Given the description of an element on the screen output the (x, y) to click on. 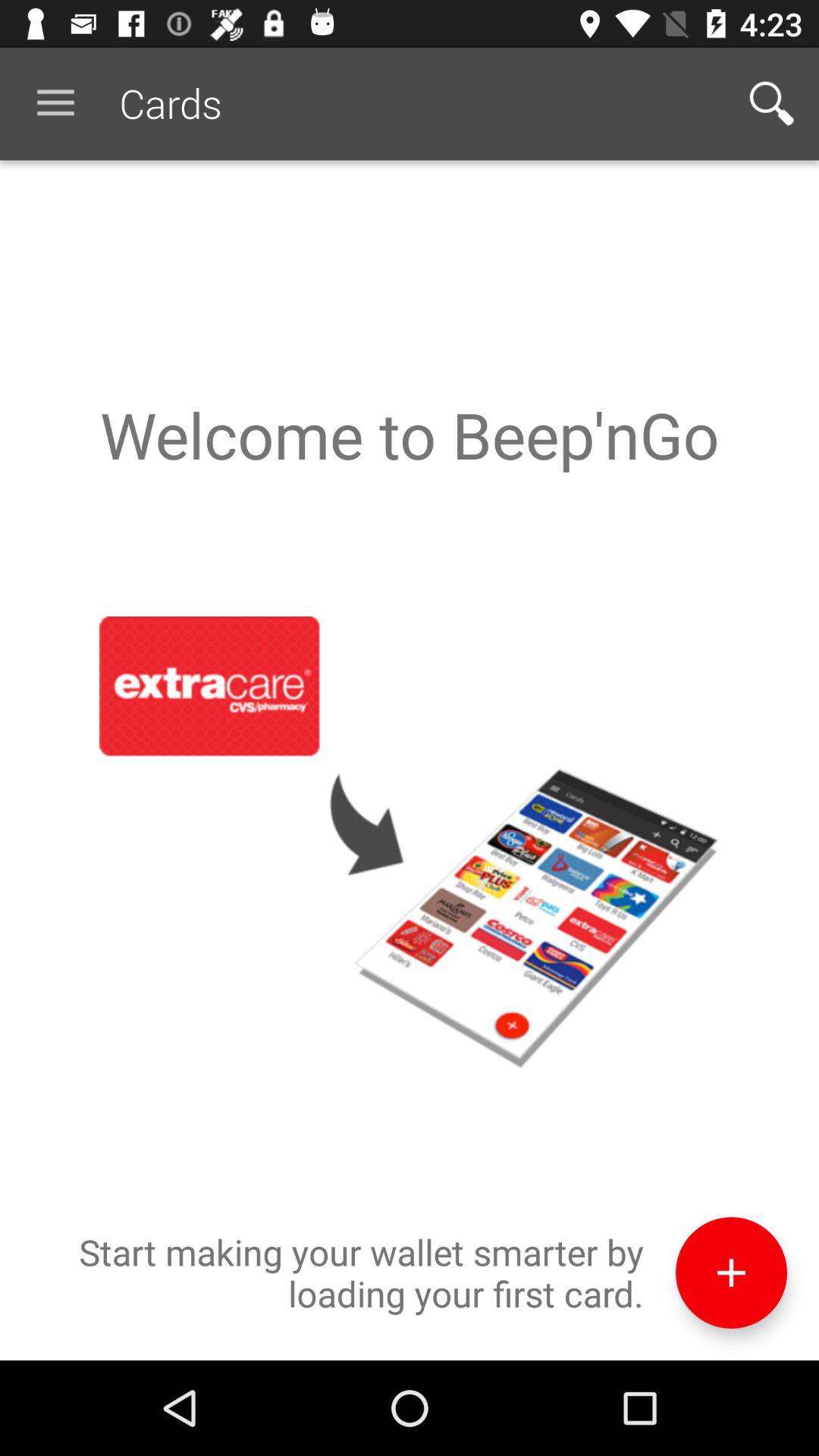
turn on the item to the right of cards (771, 103)
